Given the description of an element on the screen output the (x, y) to click on. 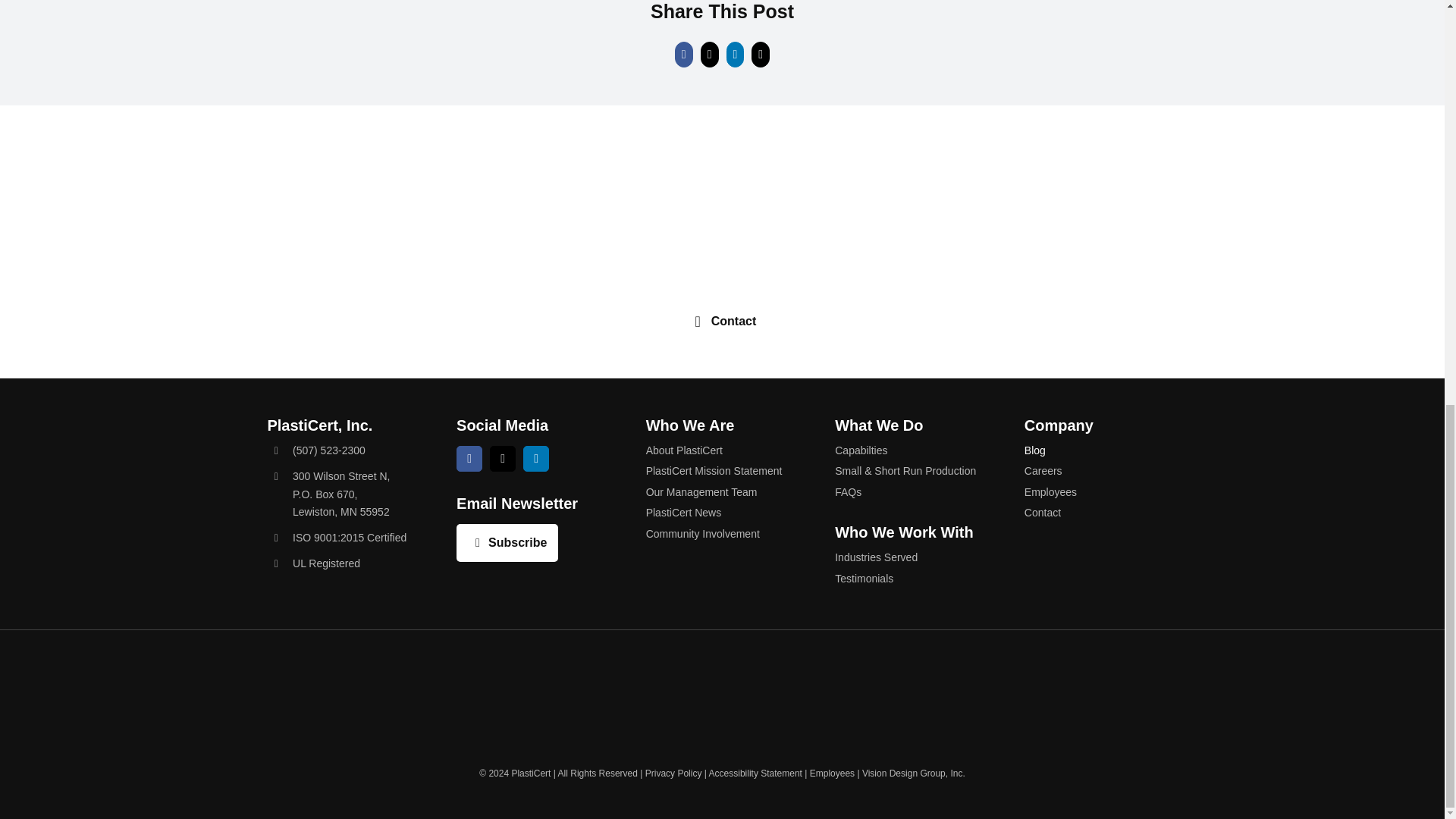
Contact (721, 321)
Subscribe (507, 542)
X (502, 458)
Subscribe (507, 542)
Facebook (469, 458)
LinkedIn (535, 458)
PlastiCert Mission Statement (341, 494)
About PlastiCert (722, 470)
